Given the description of an element on the screen output the (x, y) to click on. 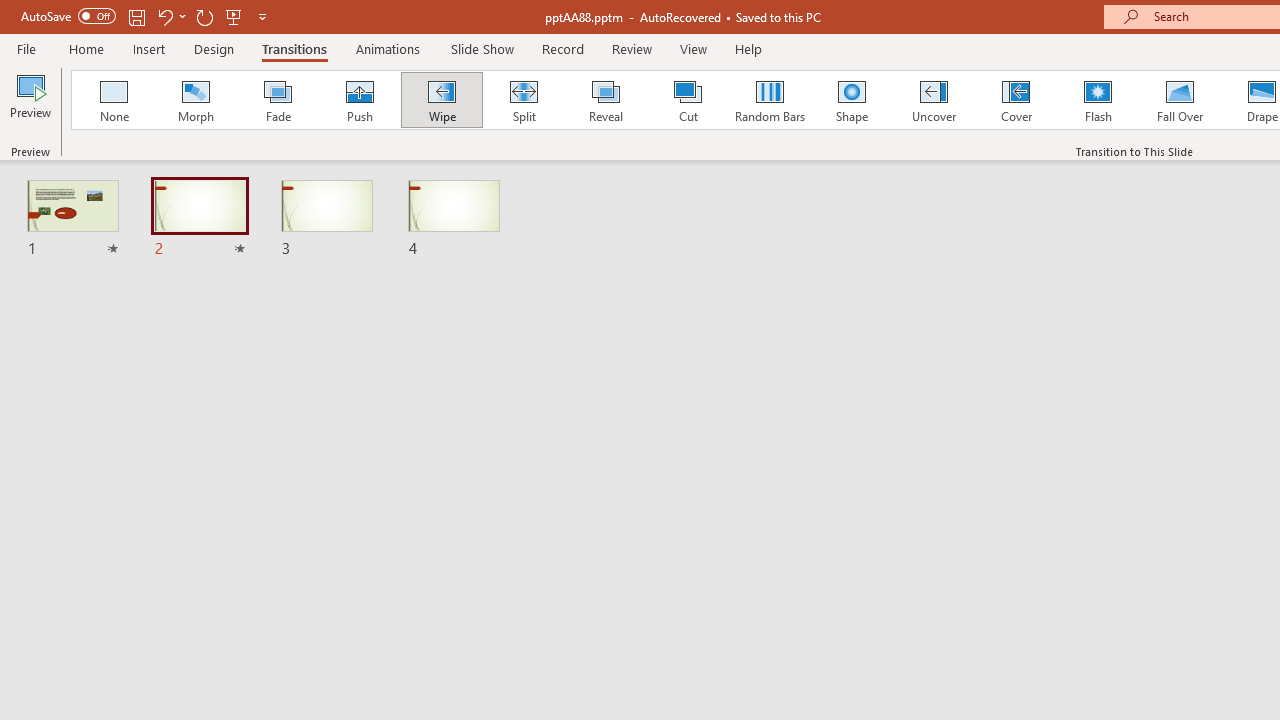
Uncover (934, 100)
Fall Over (1180, 100)
Cover (1016, 100)
Push (359, 100)
